Given the description of an element on the screen output the (x, y) to click on. 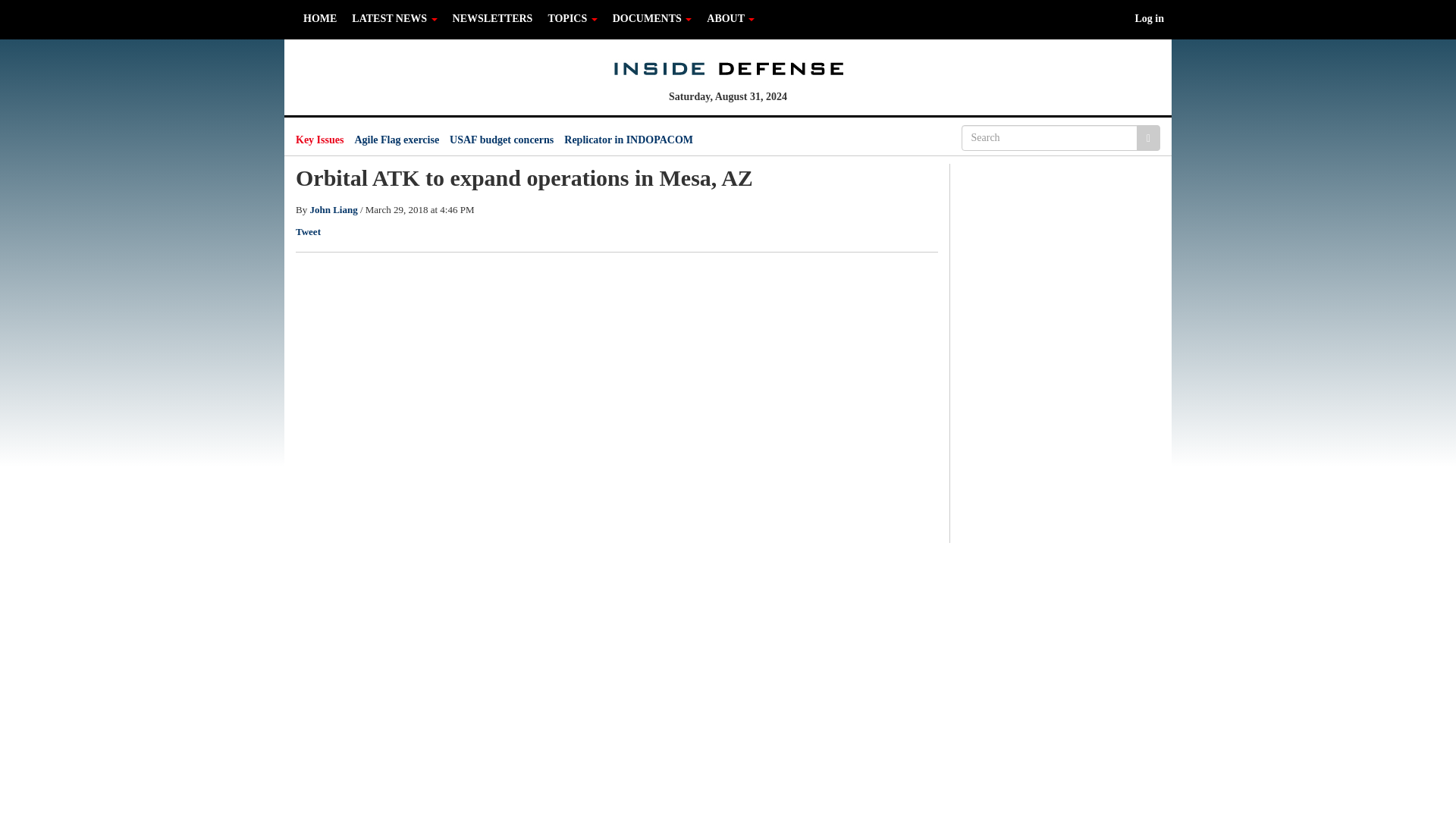
LATEST NEWS (393, 18)
HOME (319, 18)
DOCUMENTS (652, 18)
NEWSLETTERS (492, 18)
TOPICS (572, 18)
